Given the description of an element on the screen output the (x, y) to click on. 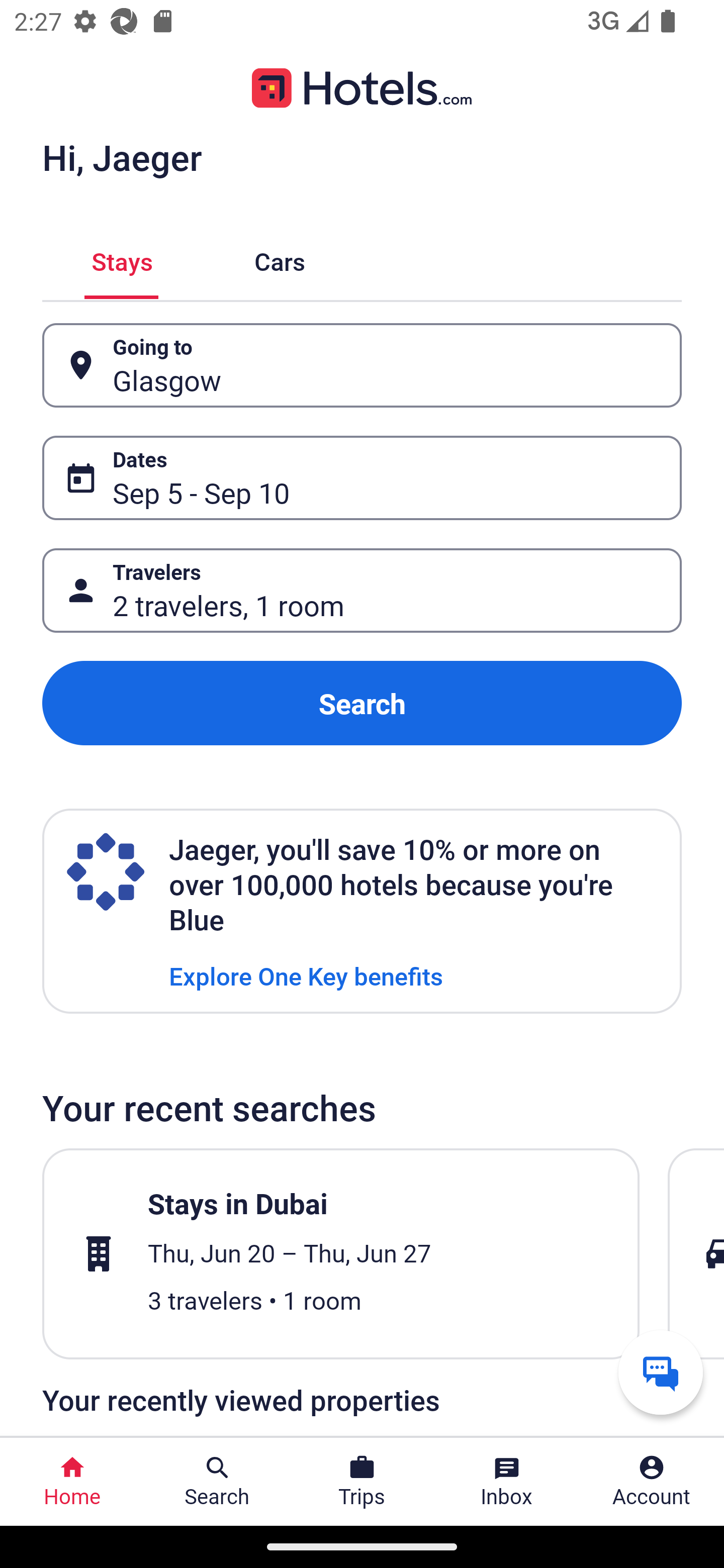
Hi, Jaeger (121, 156)
Cars (279, 259)
Going to Button Glasgow (361, 365)
Dates Button Sep 5 - Sep 10 (361, 477)
Travelers Button 2 travelers, 1 room (361, 590)
Search (361, 702)
Get help from a virtual agent (660, 1371)
Search Search Button (216, 1481)
Trips Trips Button (361, 1481)
Inbox Inbox Button (506, 1481)
Account Profile. Button (651, 1481)
